Given the description of an element on the screen output the (x, y) to click on. 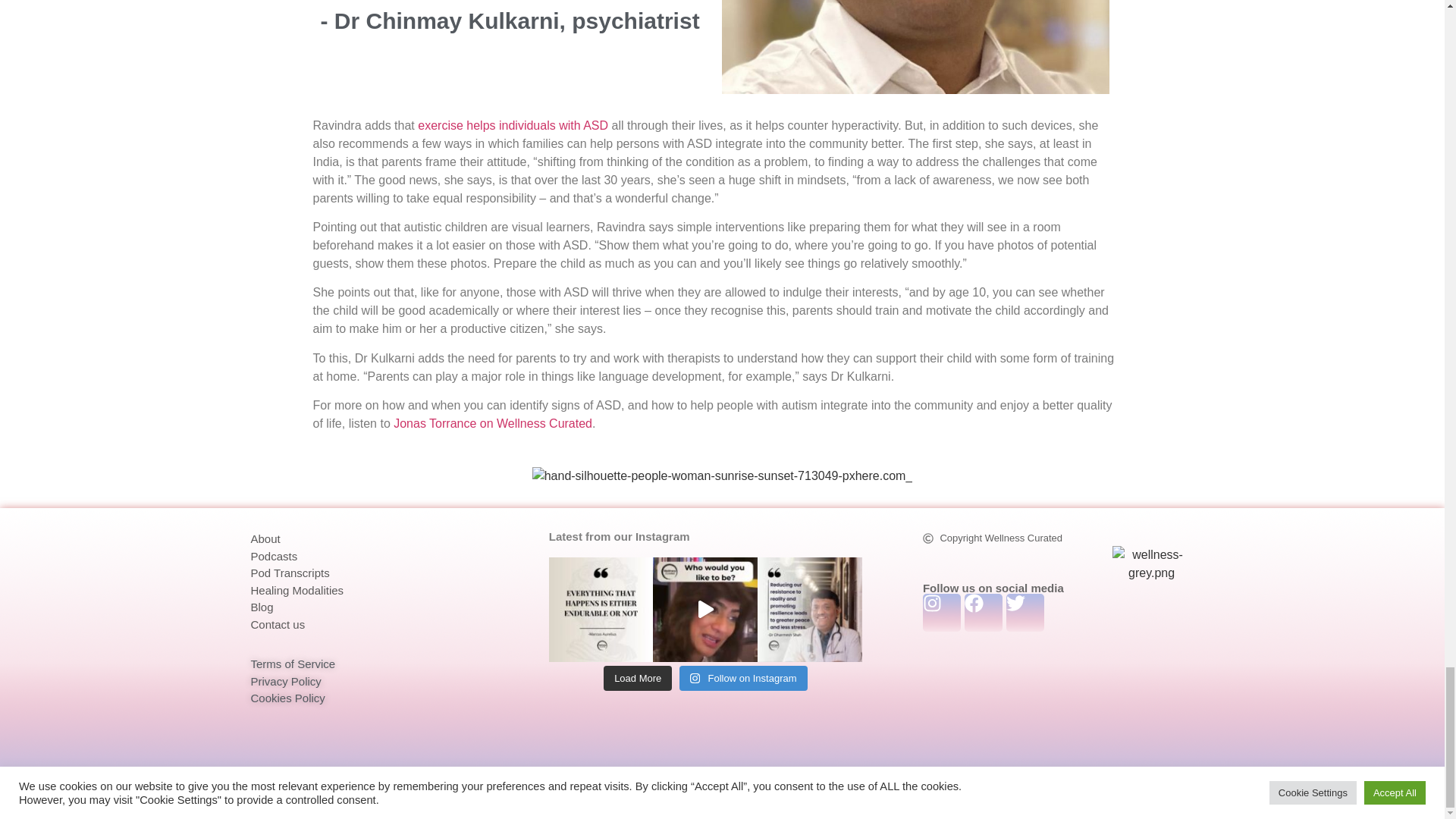
wellness-grey.png (1151, 564)
